Given the description of an element on the screen output the (x, y) to click on. 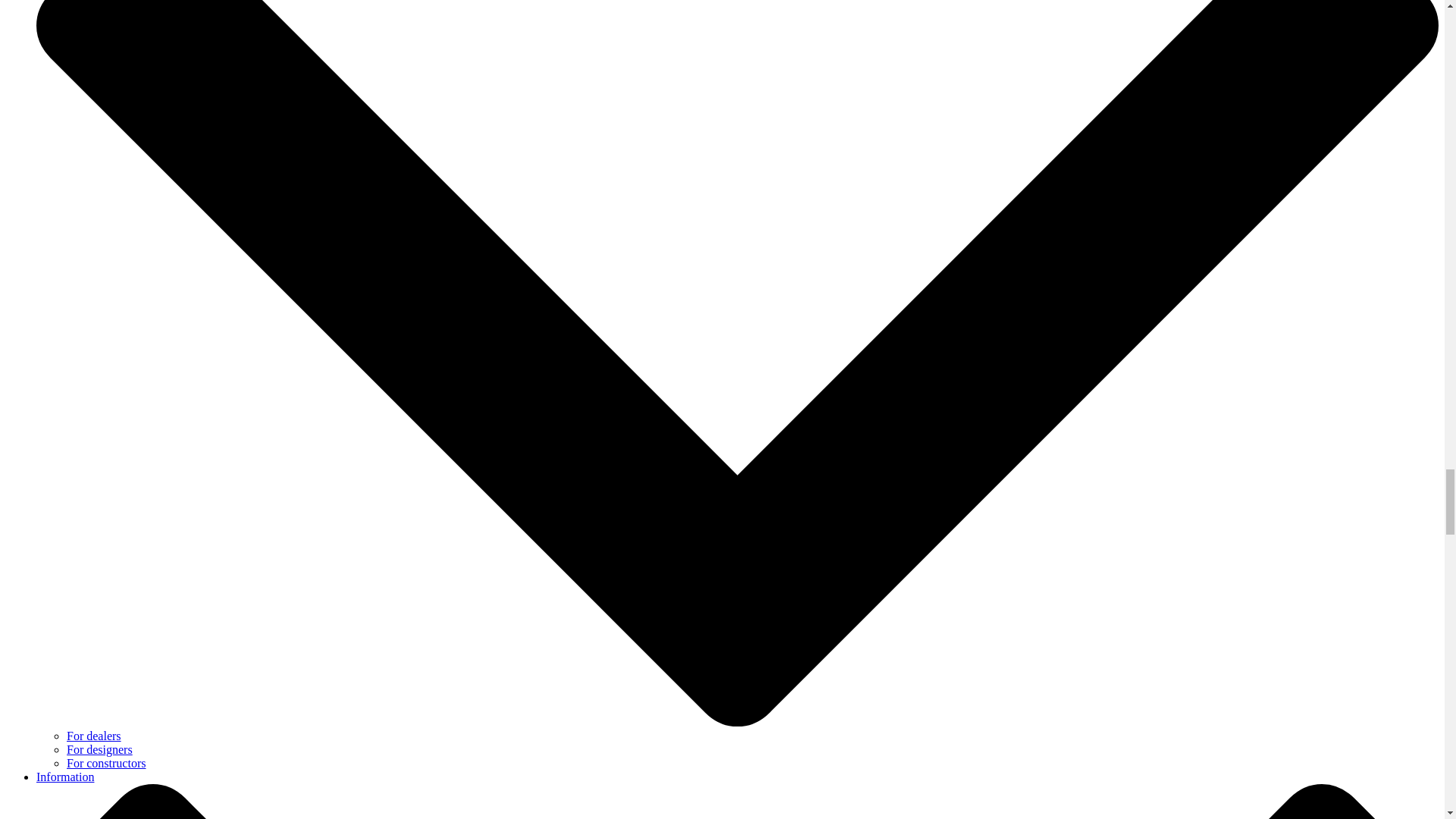
For constructors (105, 762)
For dealers (93, 735)
Information (65, 776)
For designers (99, 748)
